Given the description of an element on the screen output the (x, y) to click on. 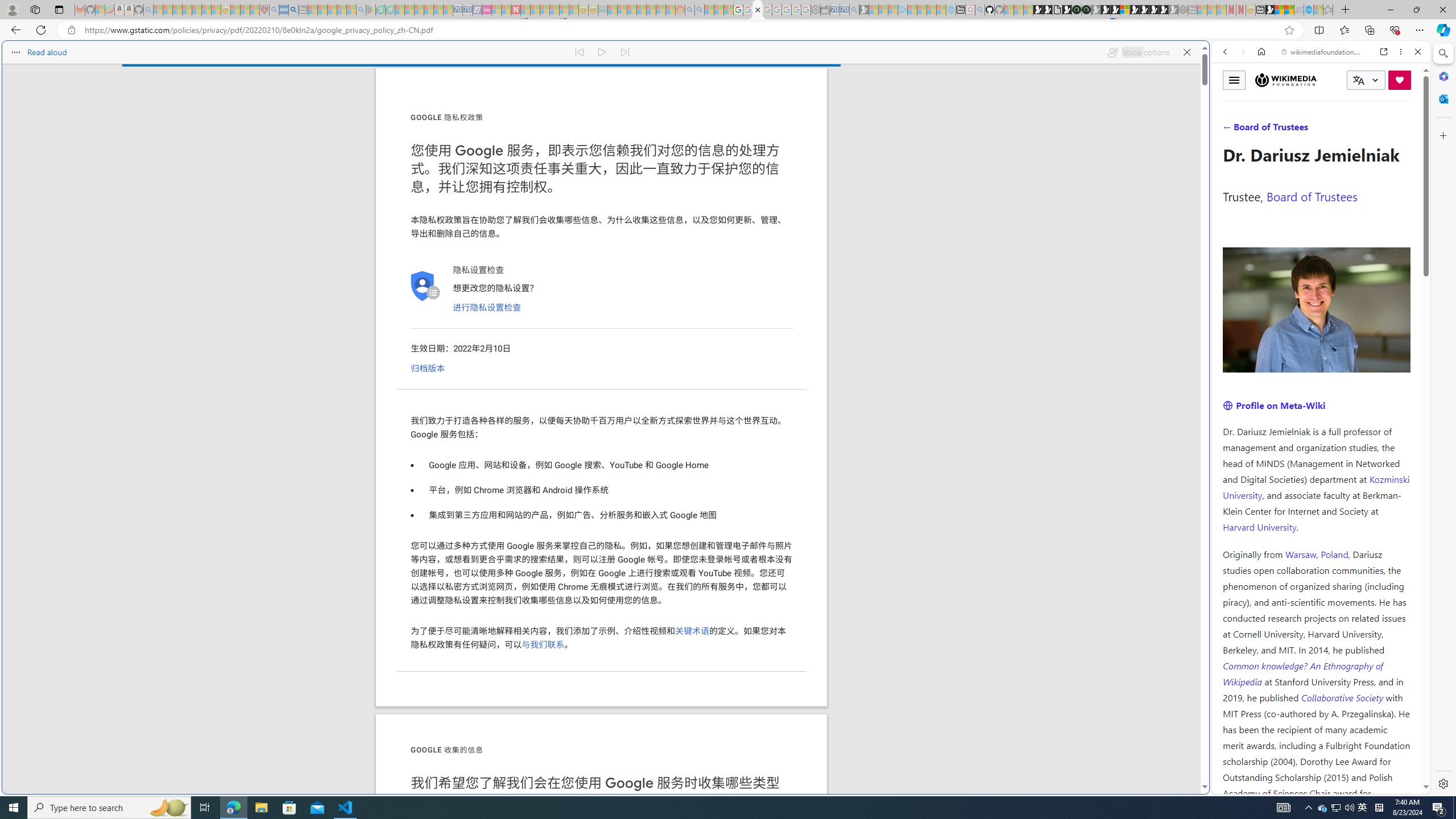
Pets - MSN - Sleeping (340, 9)
Read previous paragraph (579, 52)
WEB   (1230, 130)
